Given the description of an element on the screen output the (x, y) to click on. 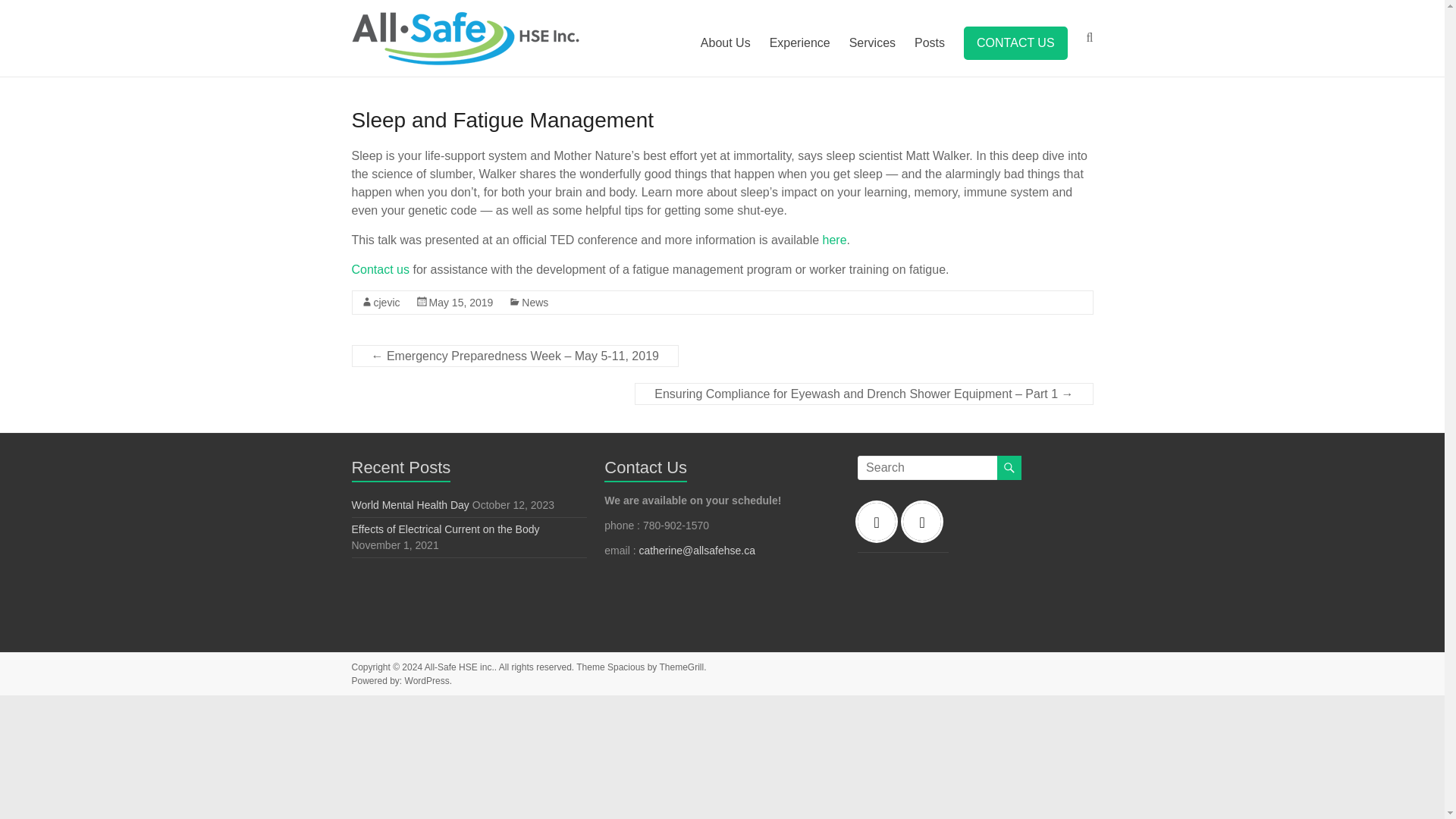
News (534, 302)
All-Safe HSE inc. (460, 666)
Posts (929, 42)
Experience (799, 42)
About Us (725, 42)
May 15, 2019 (461, 302)
Services (871, 42)
WordPress (426, 680)
Effects of Electrical Current on the Body (446, 529)
7:05 pm (461, 302)
here (834, 239)
World Mental Health Day (410, 504)
Spacious (626, 666)
CONTACT US (1015, 42)
Spacious (626, 666)
